Given the description of an element on the screen output the (x, y) to click on. 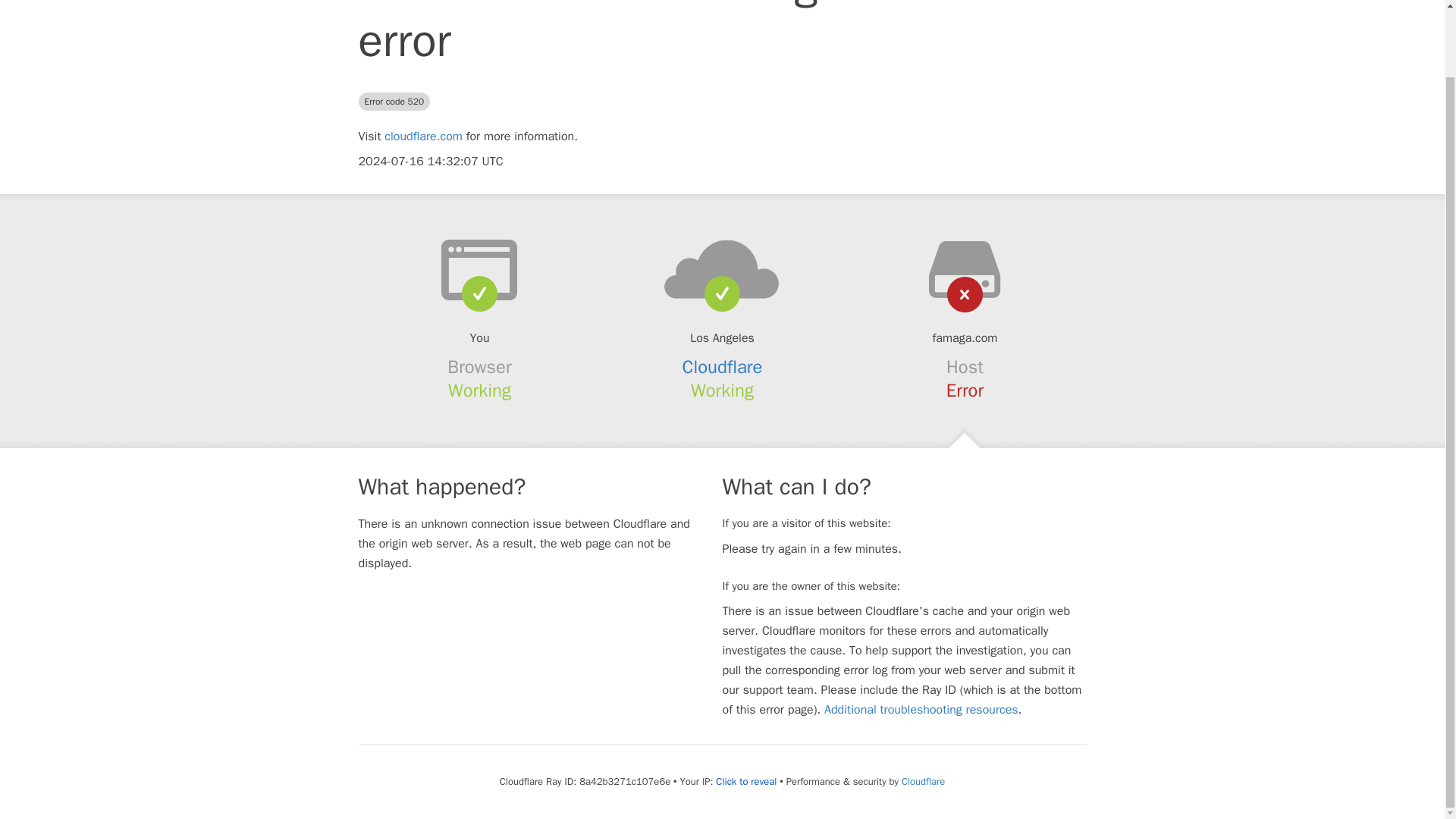
Click to reveal (746, 781)
Cloudflare (722, 366)
Cloudflare (922, 780)
Additional troubleshooting resources (920, 709)
cloudflare.com (423, 136)
